Given the description of an element on the screen output the (x, y) to click on. 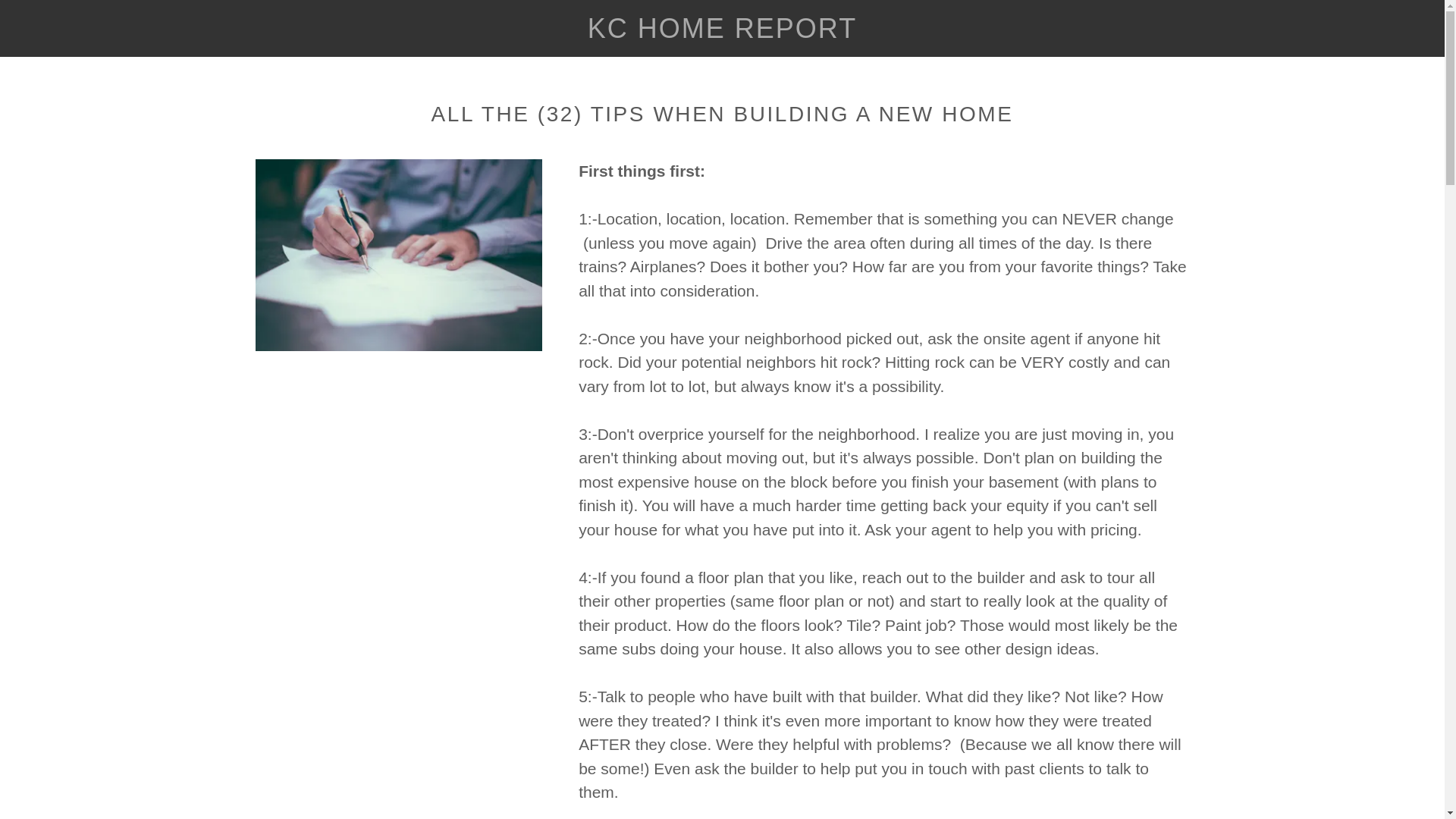
KC HOME REPORT (722, 31)
KC HOMe REPORT (722, 31)
